Given the description of an element on the screen output the (x, y) to click on. 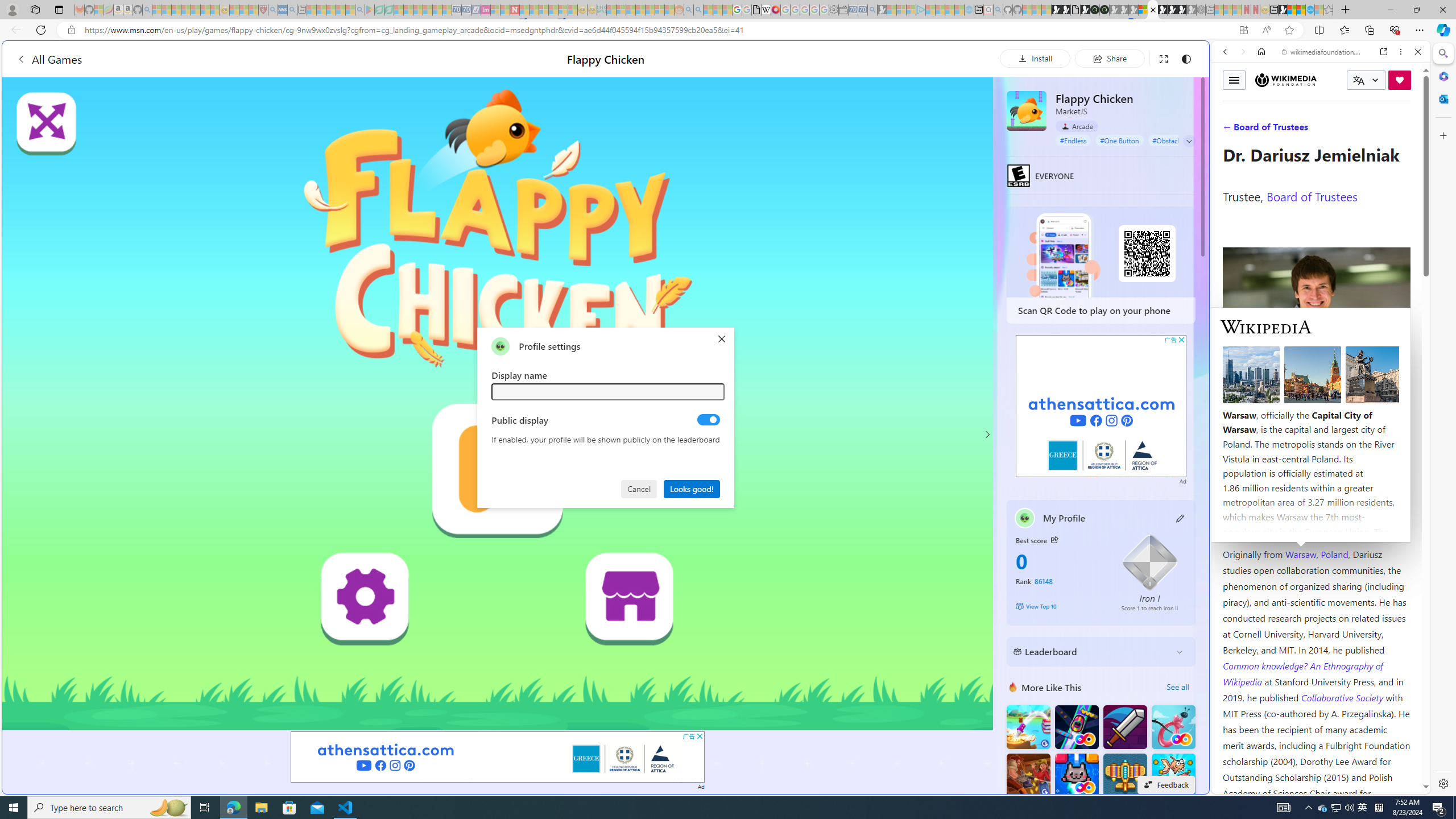
EVERYONE (1018, 175)
Advertisement (1101, 405)
Search Filter, IMAGES (1262, 129)
google - Search - Sleeping (359, 9)
google_privacy_policy_zh-CN.pdf (755, 9)
More Like This (1012, 686)
